Given the description of an element on the screen output the (x, y) to click on. 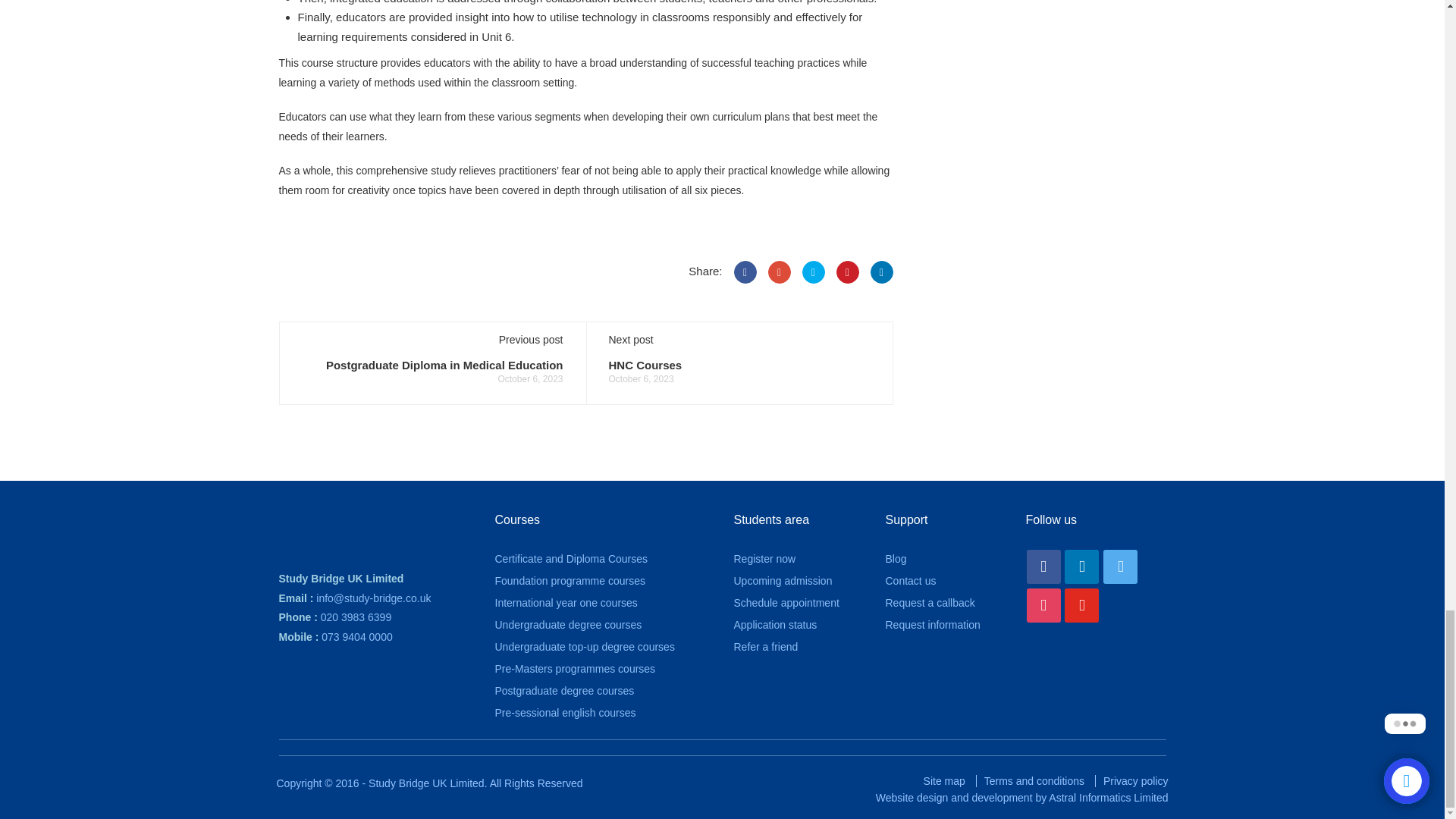
Google Plus (778, 272)
Linkedin (1081, 566)
Twitter (813, 272)
Default Label (1043, 605)
Pinterest (847, 272)
Twitter (1120, 566)
Facebook (745, 272)
Facebook (1043, 566)
